Given the description of an element on the screen output the (x, y) to click on. 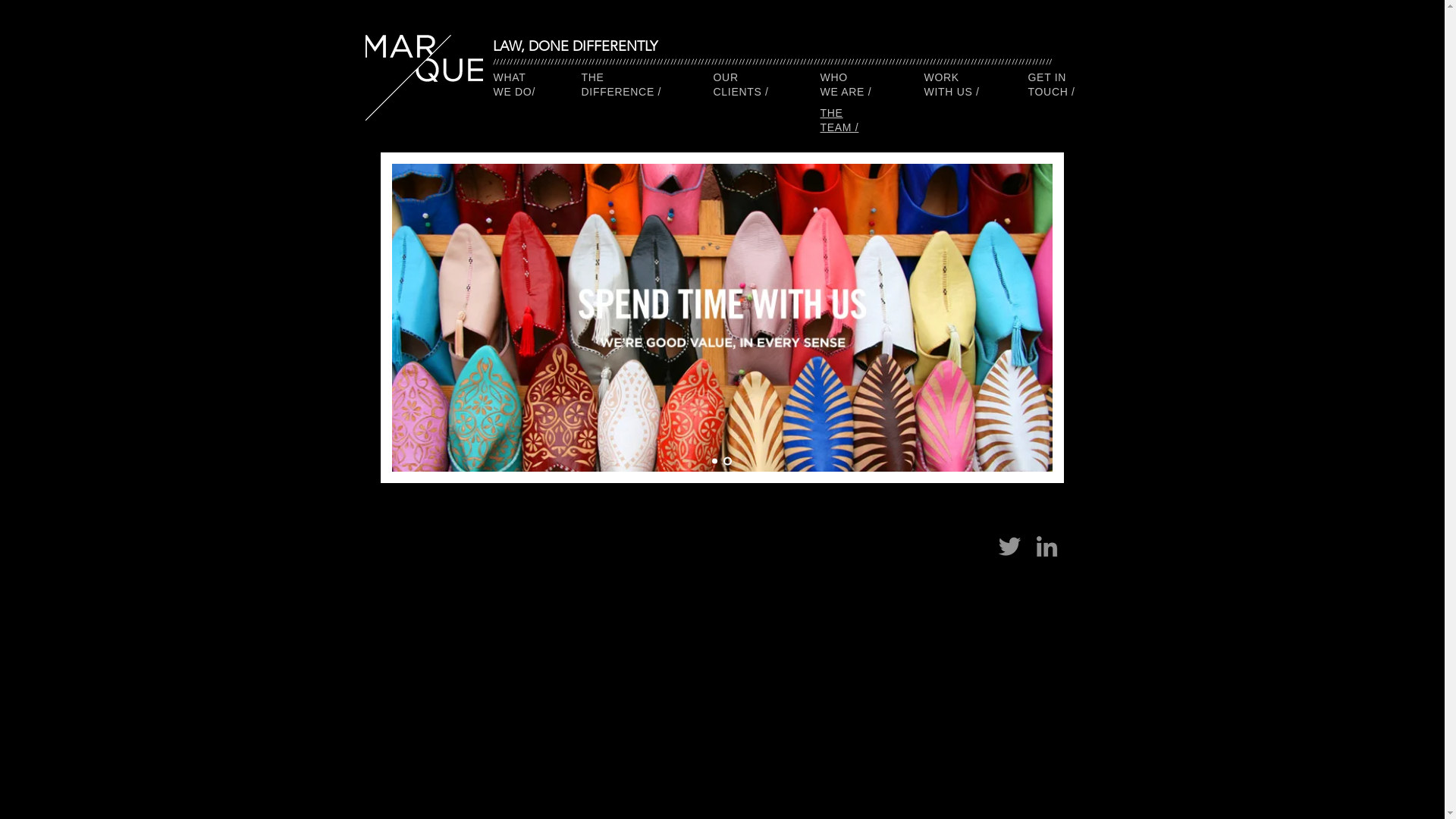
WHAT
WE DO/ Element type: text (513, 84)
THE
TEAM / Element type: text (839, 120)
WORK
WITH US / Element type: text (951, 84)
GET IN
TOUCH / Element type: text (1051, 84)
WHO
WE ARE / Element type: text (846, 84)
OUR
CLIENTS / Element type: text (740, 84)
THE
DIFFERENCE / Element type: text (620, 84)
